Given the description of an element on the screen output the (x, y) to click on. 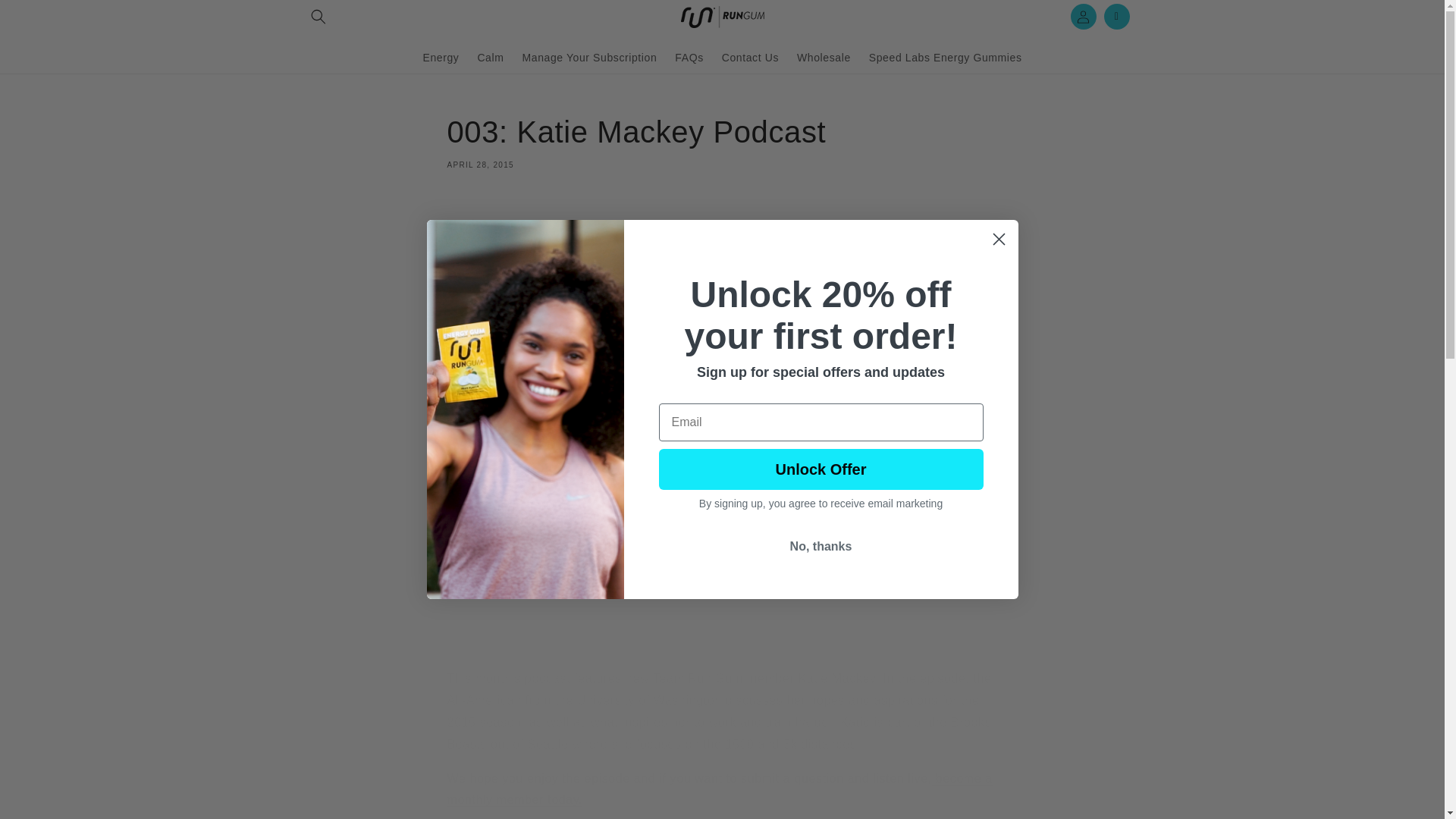
SUBSCRIBE ON iTunes (511, 645)
Cart (1116, 16)
Speed Labs Energy Gummies (945, 56)
Contact Us (750, 56)
Wholesale (823, 56)
SUBSCRIBE ON iTunes (511, 644)
Manage Your Subscription (588, 56)
Calm (489, 56)
SUBSCRIBE ON STITCHER (646, 645)
SUBSCRIBE ON STITCHER (721, 140)
FAQs (646, 644)
Log in (688, 56)
Skip to content (1083, 16)
Energy (45, 17)
